Given the description of an element on the screen output the (x, y) to click on. 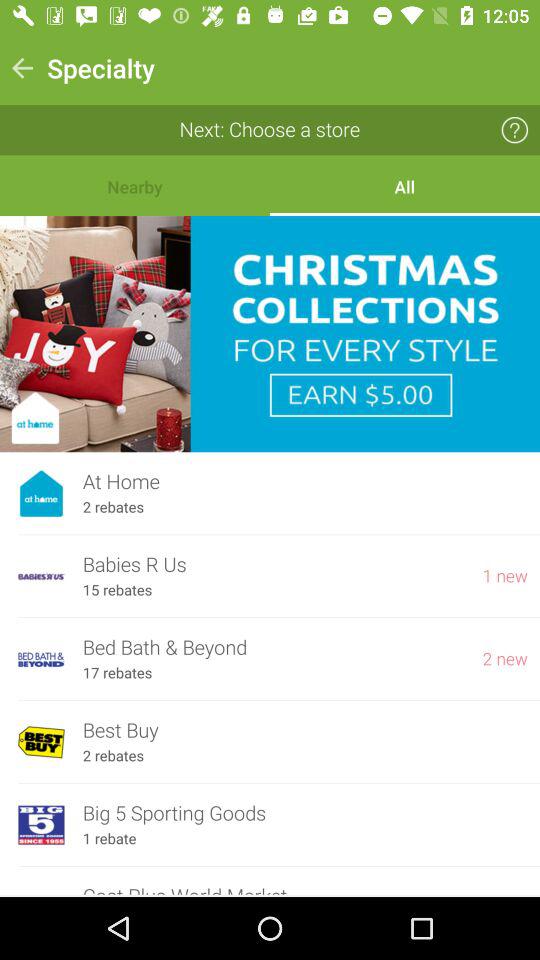
select icon below the babies r us item (117, 590)
